Given the description of an element on the screen output the (x, y) to click on. 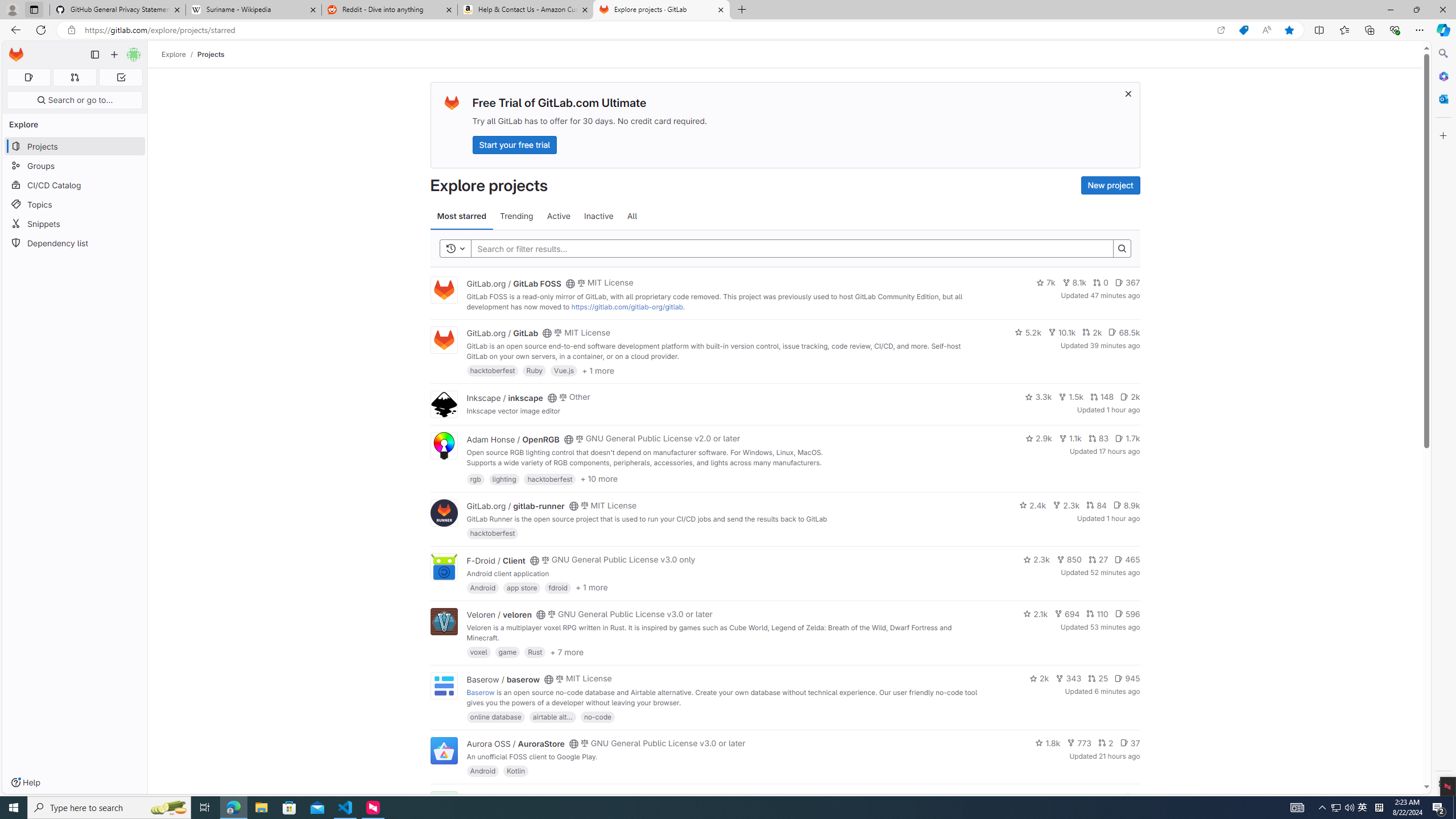
37 (1129, 742)
773 (1079, 742)
Veloren / veloren (498, 614)
GitLab.org / GitLab FOSS (513, 283)
83 (1098, 438)
2.1k (1035, 613)
Inkscape / inkscape (504, 397)
Explore/ (179, 53)
143 (1085, 797)
app store (521, 587)
